Given the description of an element on the screen output the (x, y) to click on. 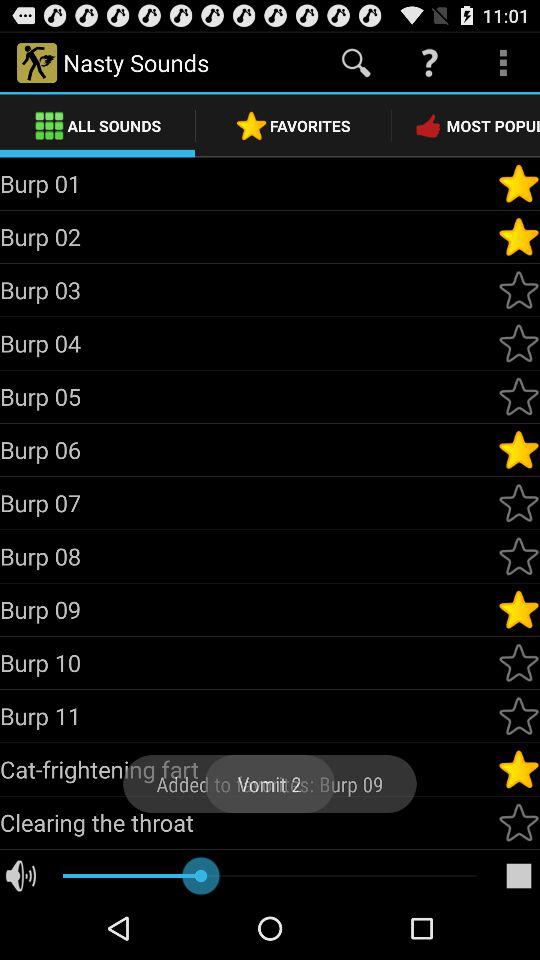
jump to the burp 06 app (248, 449)
